Given the description of an element on the screen output the (x, y) to click on. 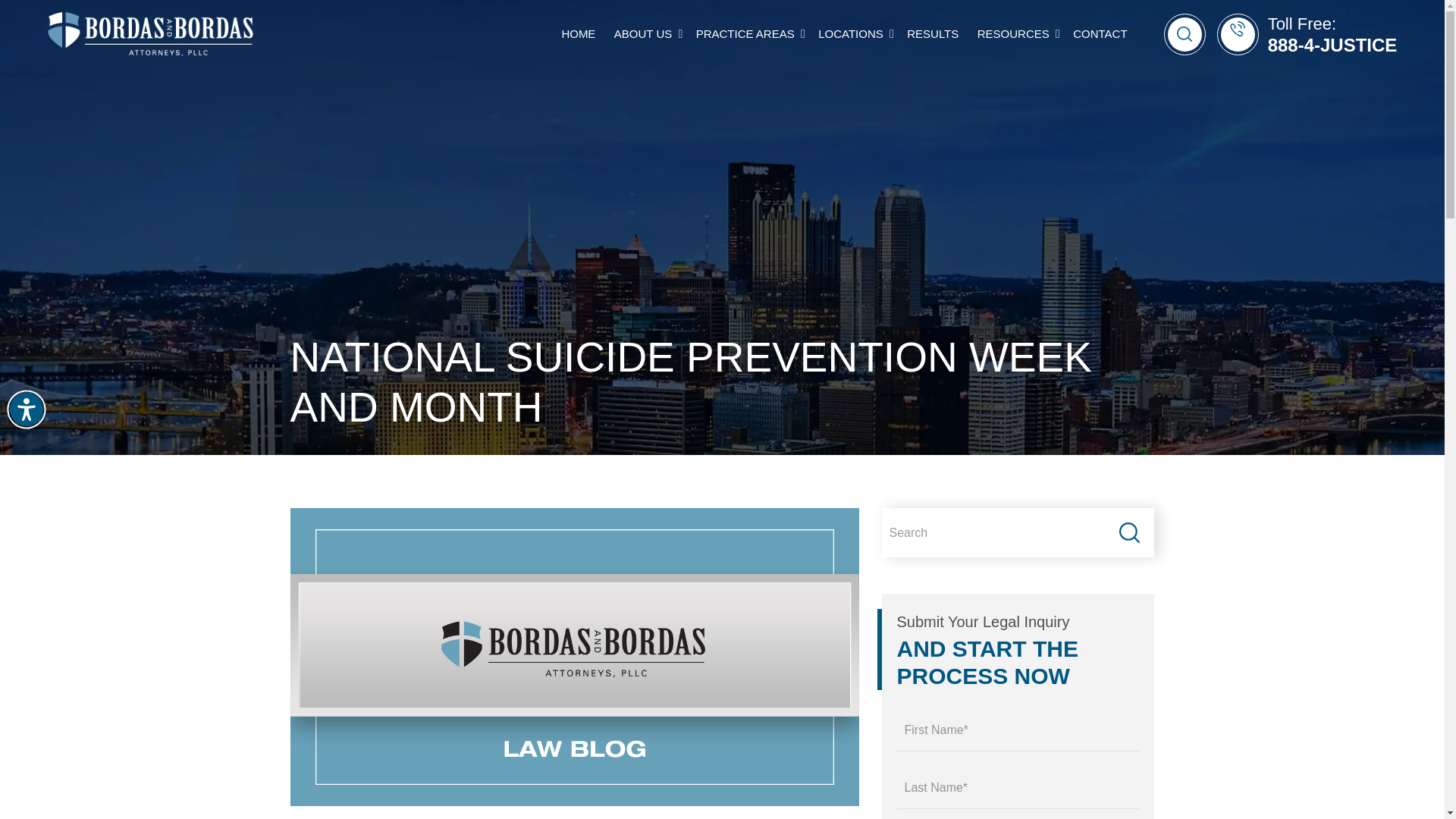
ABOUT US (642, 34)
RESOURCES (1012, 34)
LOCATIONS (850, 34)
PRACTICE AREAS (744, 34)
HOME (577, 34)
Accessibility Menu (26, 409)
PRACTICE AREAS (748, 33)
RESULTS (932, 34)
